Given the description of an element on the screen output the (x, y) to click on. 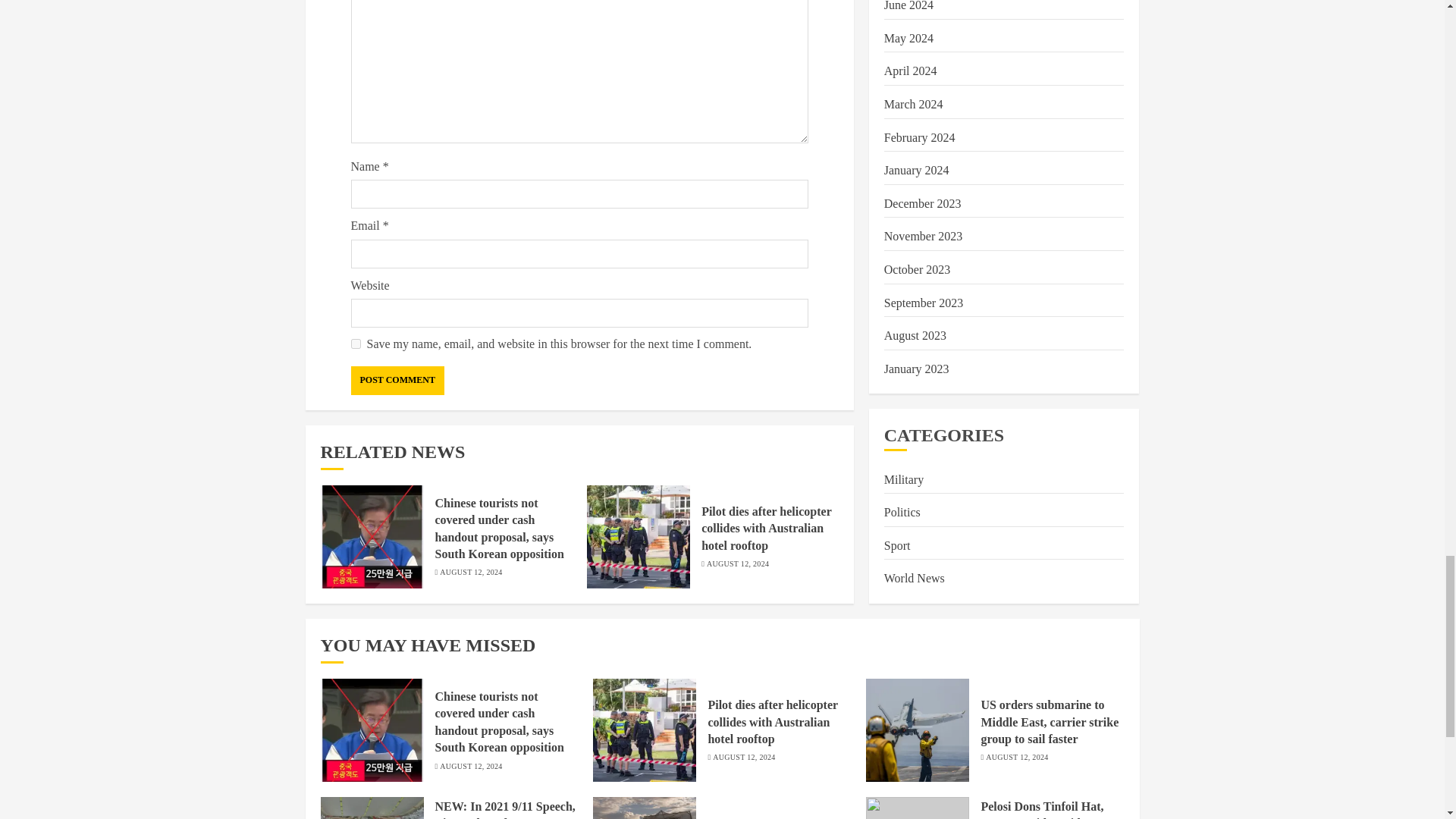
Post Comment (397, 380)
AUGUST 12, 2024 (470, 572)
Post Comment (397, 380)
AUGUST 12, 2024 (737, 563)
yes (354, 343)
